Given the description of an element on the screen output the (x, y) to click on. 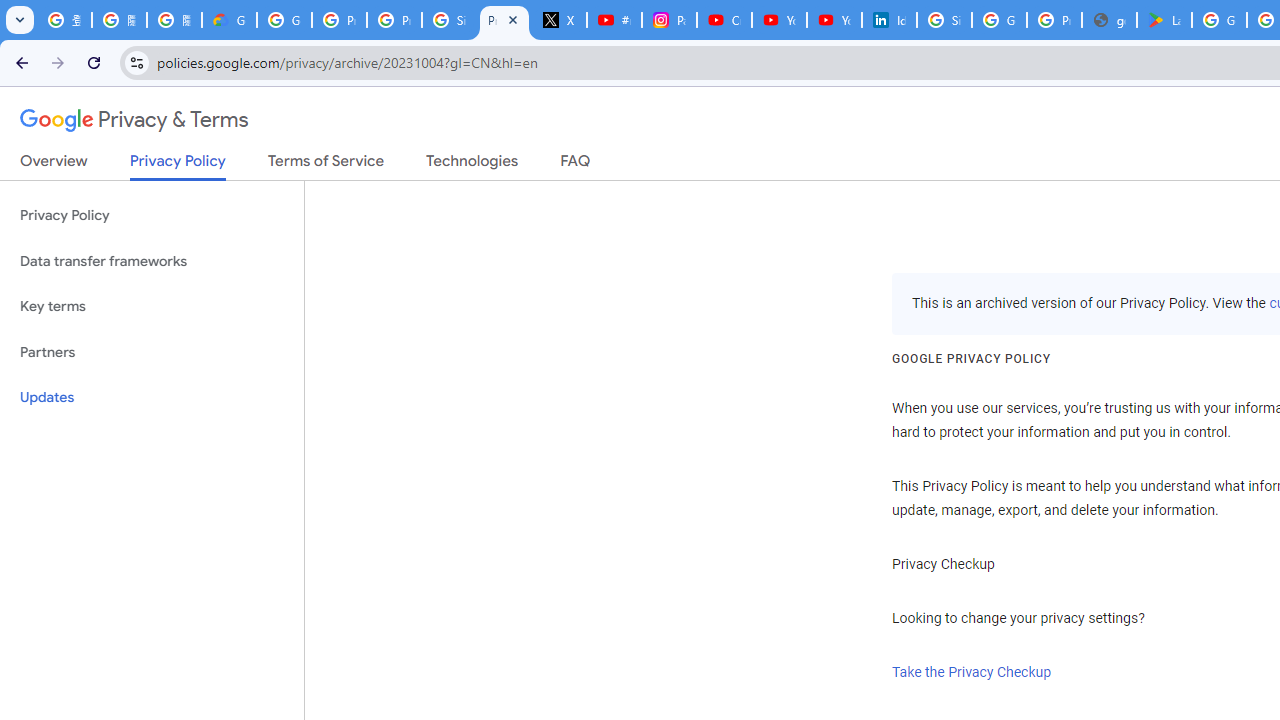
#nbabasketballhighlights - YouTube (614, 20)
Partners (152, 352)
Google Cloud Privacy Notice (229, 20)
Technologies (472, 165)
Privacy Help Center - Policies Help (339, 20)
Updates (152, 398)
Take the Privacy Checkup (972, 672)
